Given the description of an element on the screen output the (x, y) to click on. 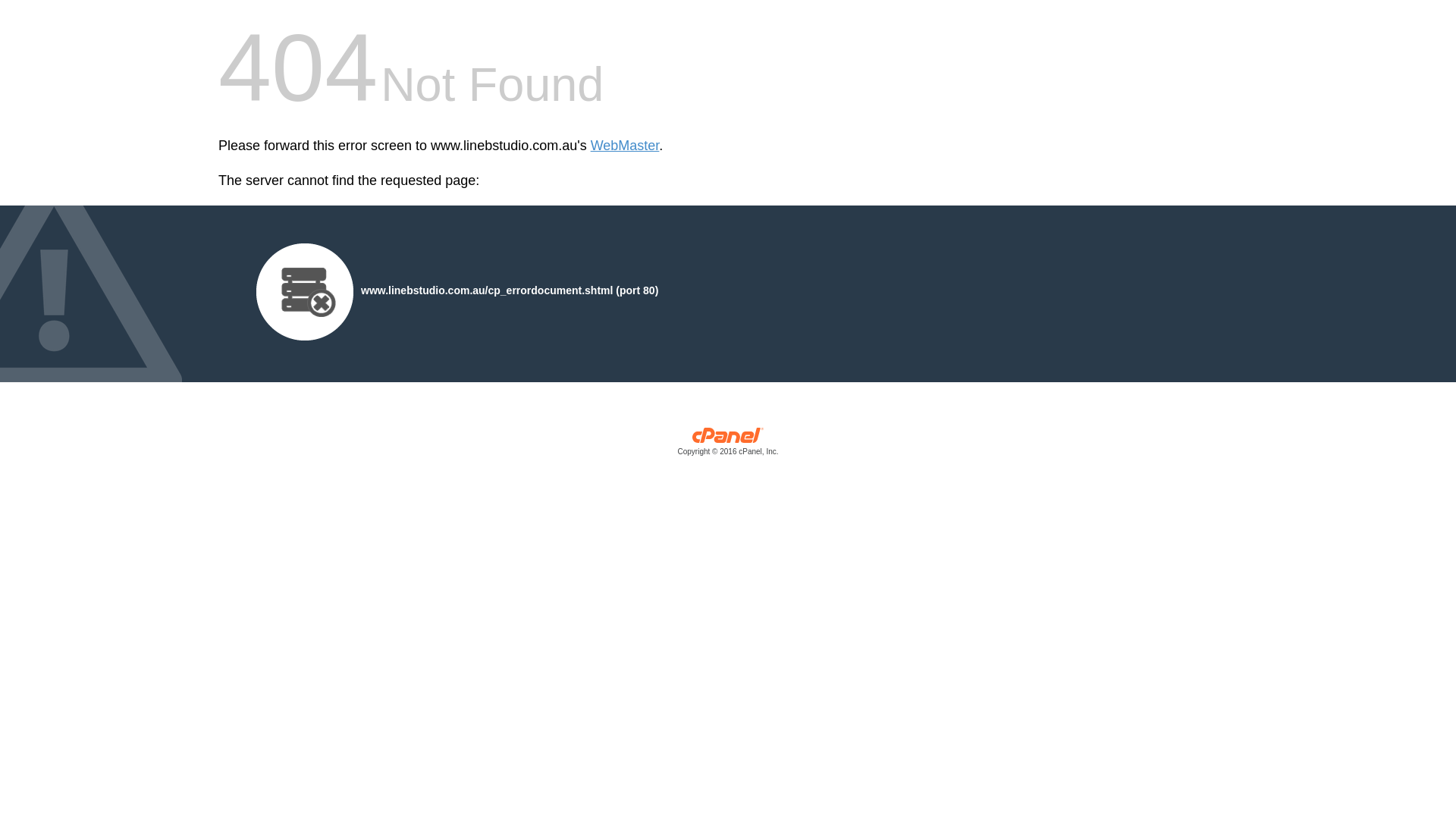
WebMaster Element type: text (624, 145)
